Given the description of an element on the screen output the (x, y) to click on. 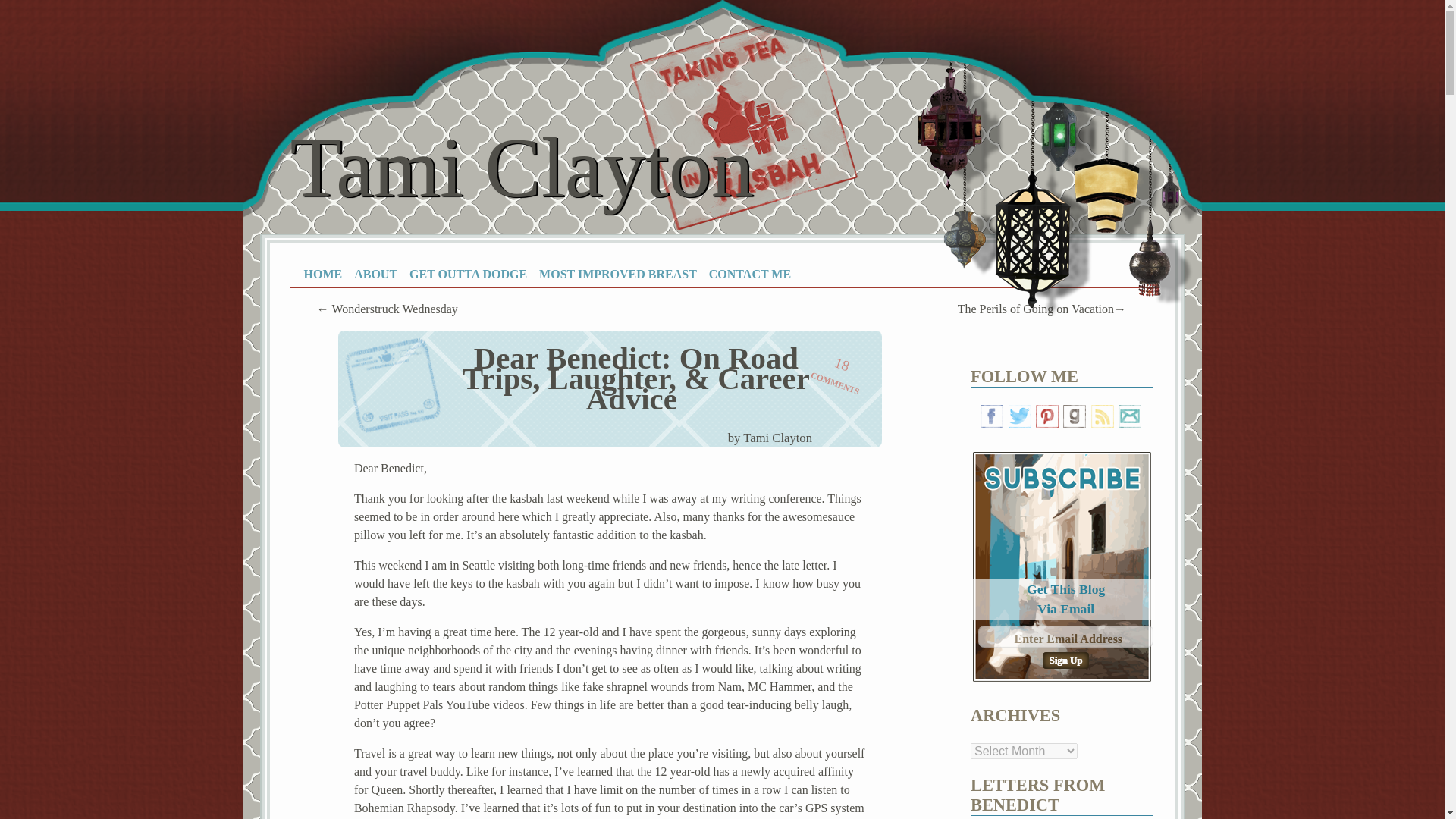
GET OUTTA DODGE (468, 273)
View all posts by Tami Clayton  (777, 437)
ABOUT (375, 273)
Sign up (1065, 660)
CONTACT ME (749, 273)
Potter Puppet Pals (834, 371)
Tami Clayton (397, 704)
HOME (520, 167)
MOST IMPROVED BREAST (322, 273)
